Given the description of an element on the screen output the (x, y) to click on. 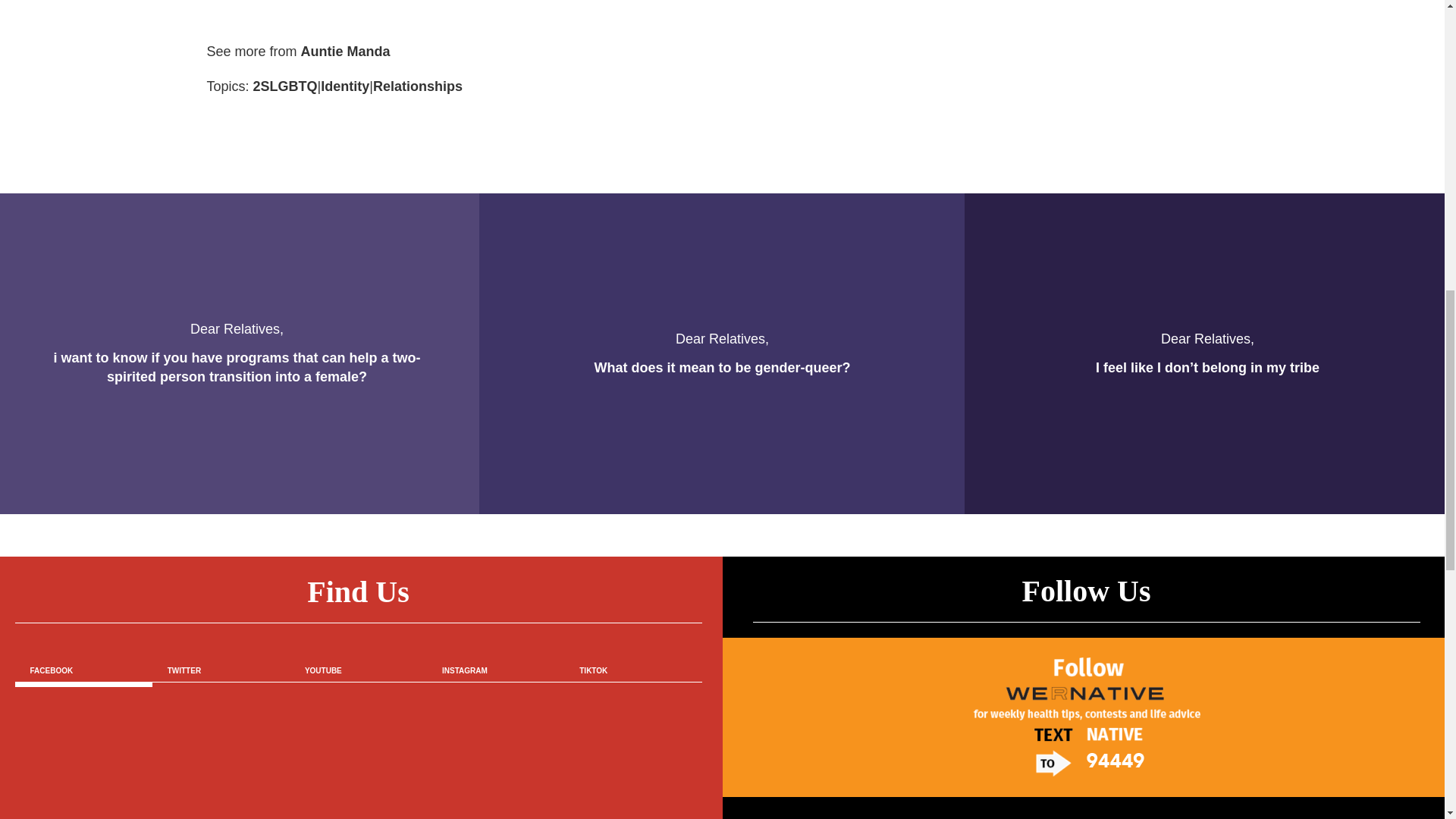
fb:page Facebook Social Plugin (358, 764)
